Given the description of an element on the screen output the (x, y) to click on. 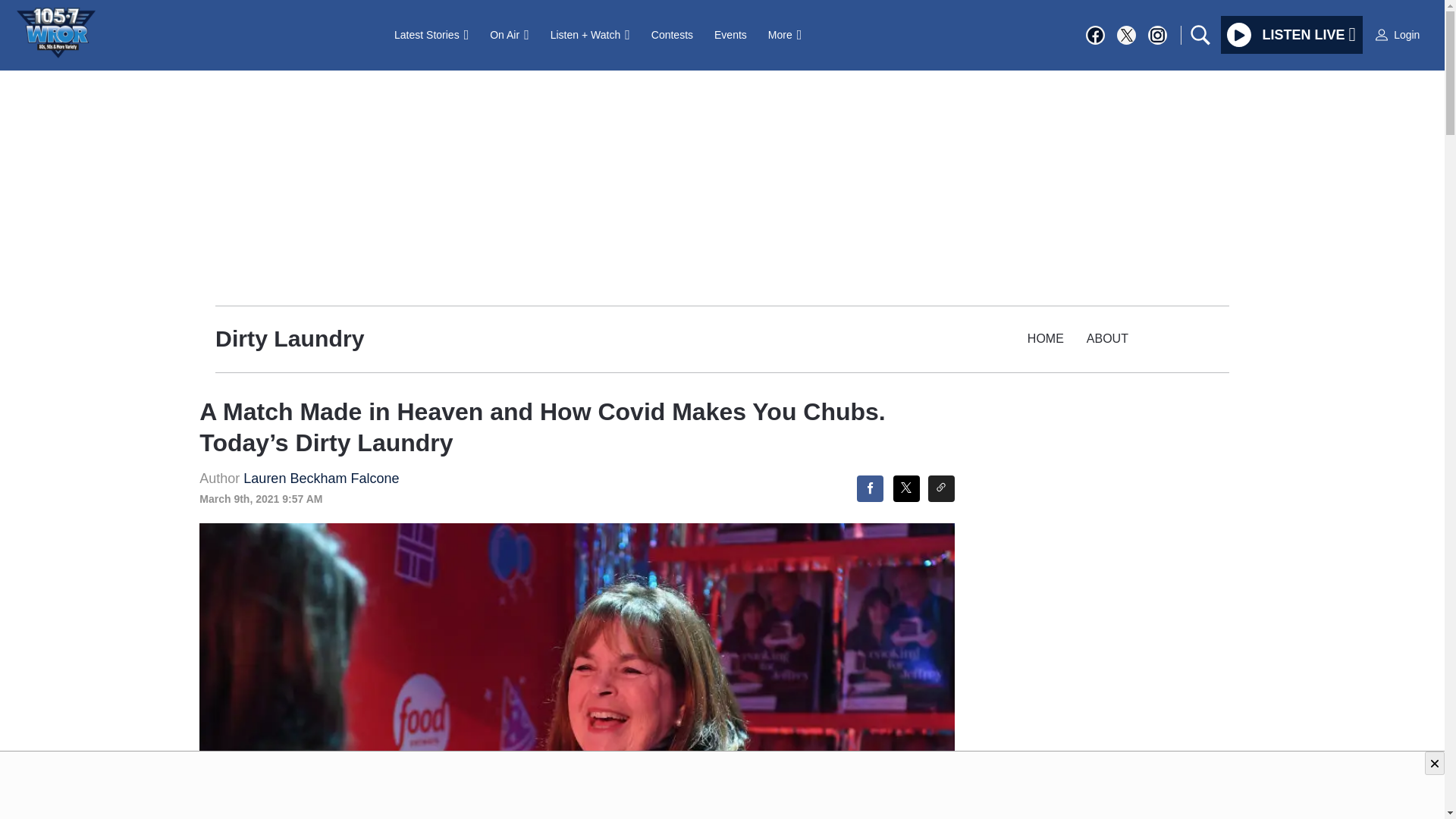
More (784, 34)
Close AdCheckmark indicating ad close (1434, 763)
Contests (671, 34)
On Air (508, 34)
Latest Stories (431, 34)
Lauren Beckham Falcone (320, 478)
Events (730, 34)
